Given the description of an element on the screen output the (x, y) to click on. 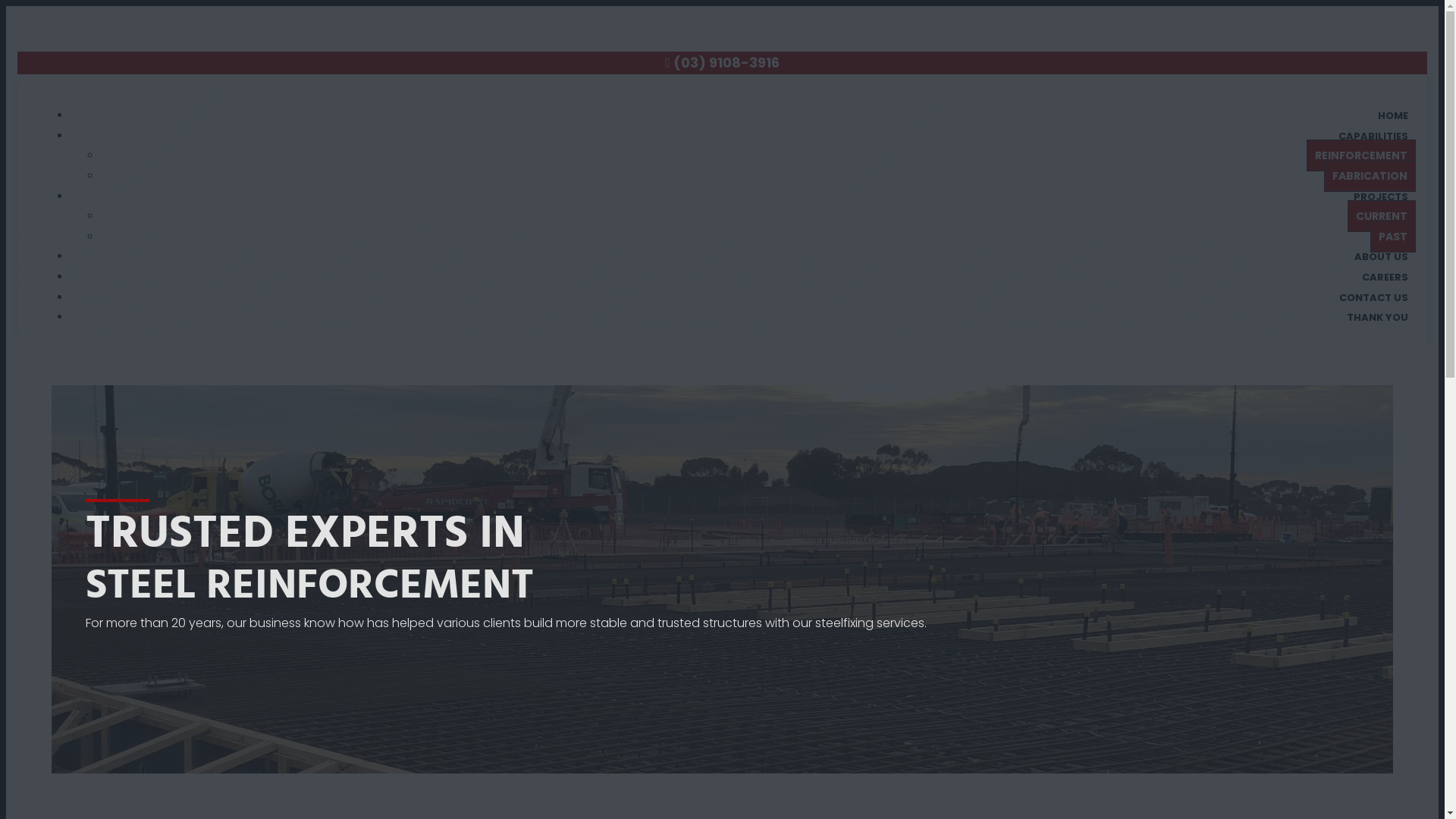
CONTACT US Element type: text (1373, 297)
ABOUT US Element type: text (1380, 256)
PROJECTS Element type: text (1380, 196)
HOME Element type: text (1392, 115)
(03) 9108-3916 Element type: text (726, 62)
THANK YOU Element type: text (1377, 317)
FABRICATION Element type: text (1369, 175)
REINFORCEMENT Element type: text (1360, 155)
CAPABILITIES Element type: text (1372, 136)
PAST Element type: text (1392, 236)
CURRENT Element type: text (1381, 216)
CAREERS Element type: text (1384, 277)
